Given the description of an element on the screen output the (x, y) to click on. 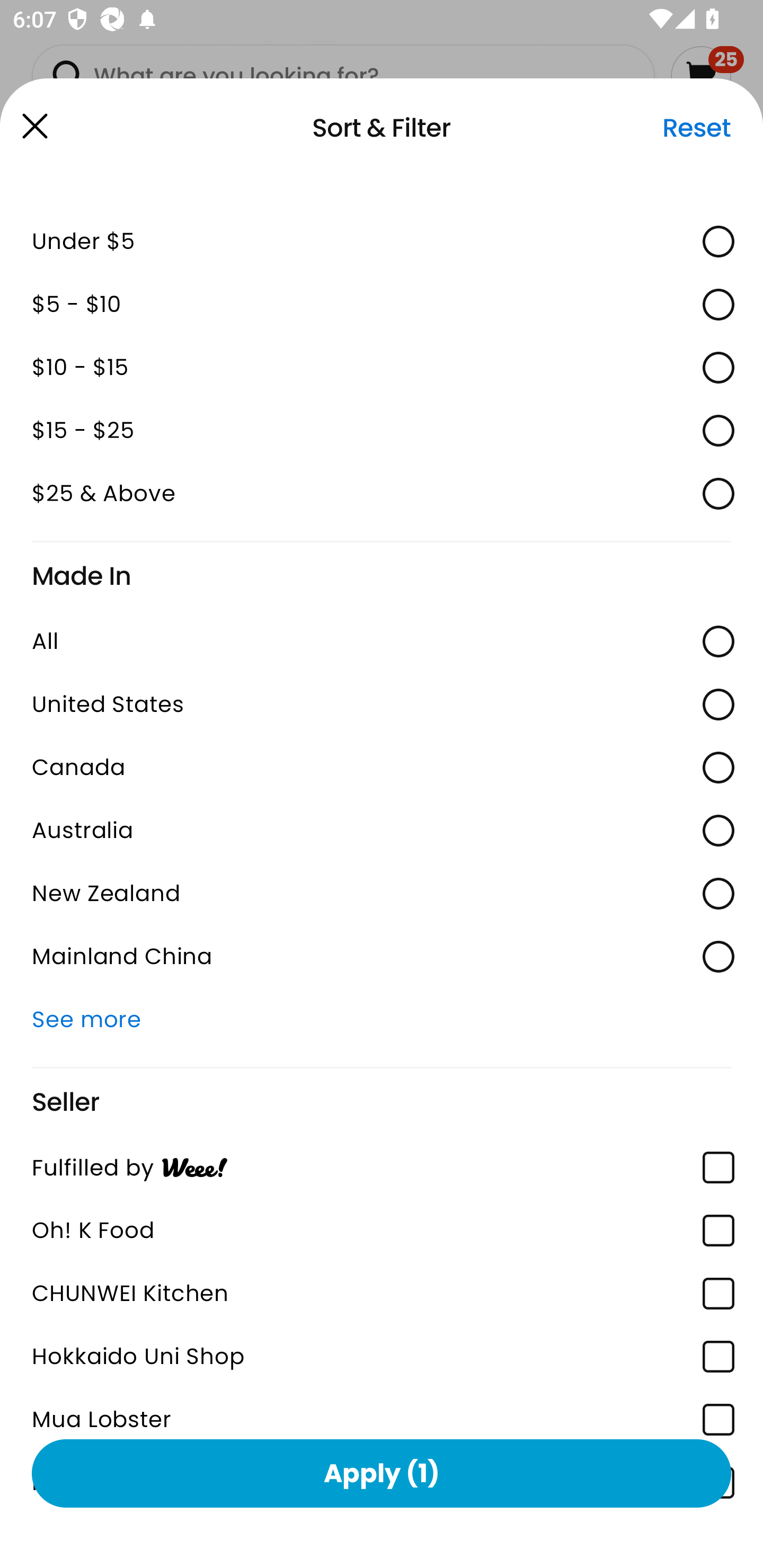
Reset (696, 127)
See more (381, 1018)
Apply (1) (381, 1472)
